Given the description of an element on the screen output the (x, y) to click on. 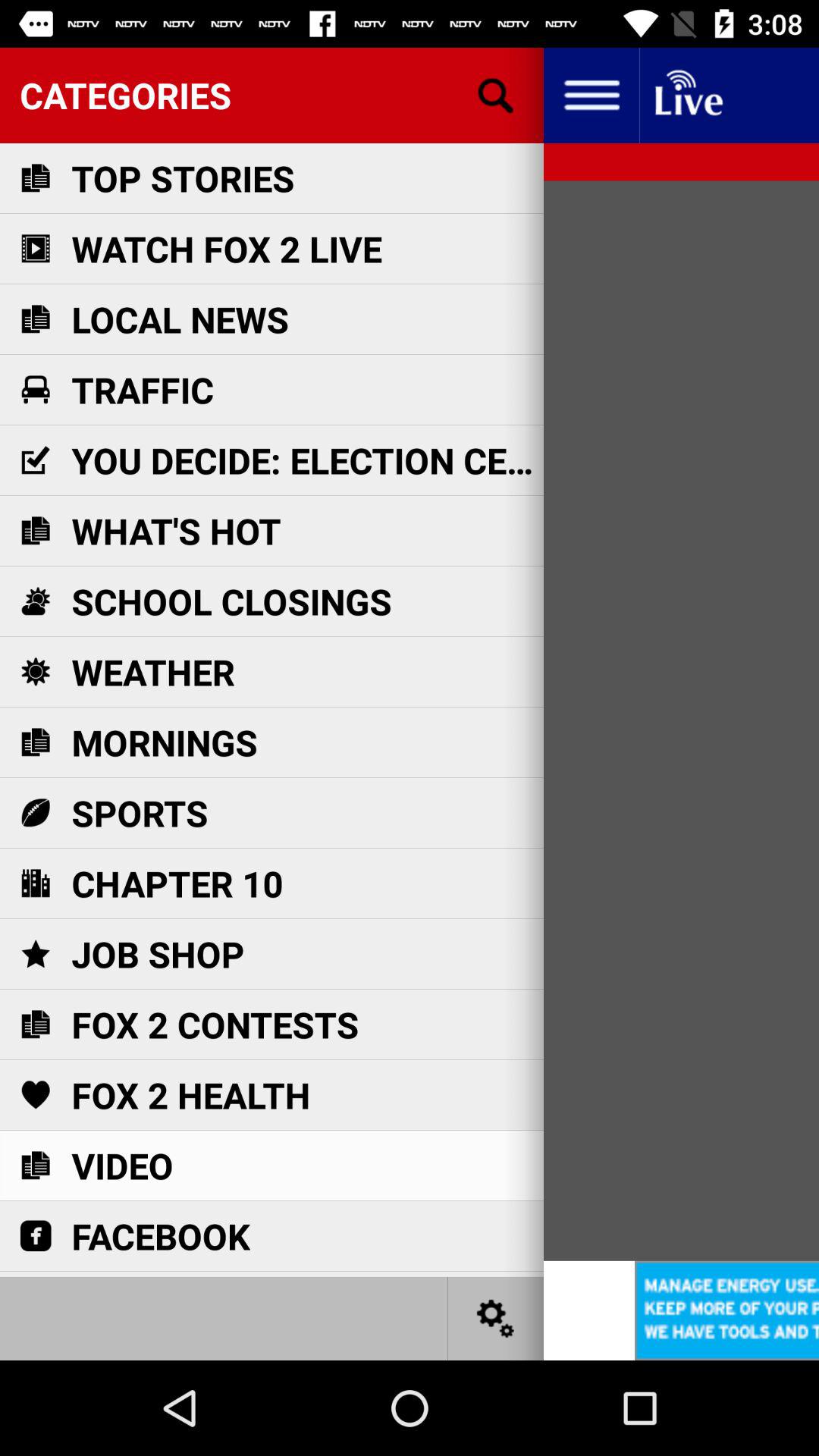
search option (495, 95)
